Given the description of an element on the screen output the (x, y) to click on. 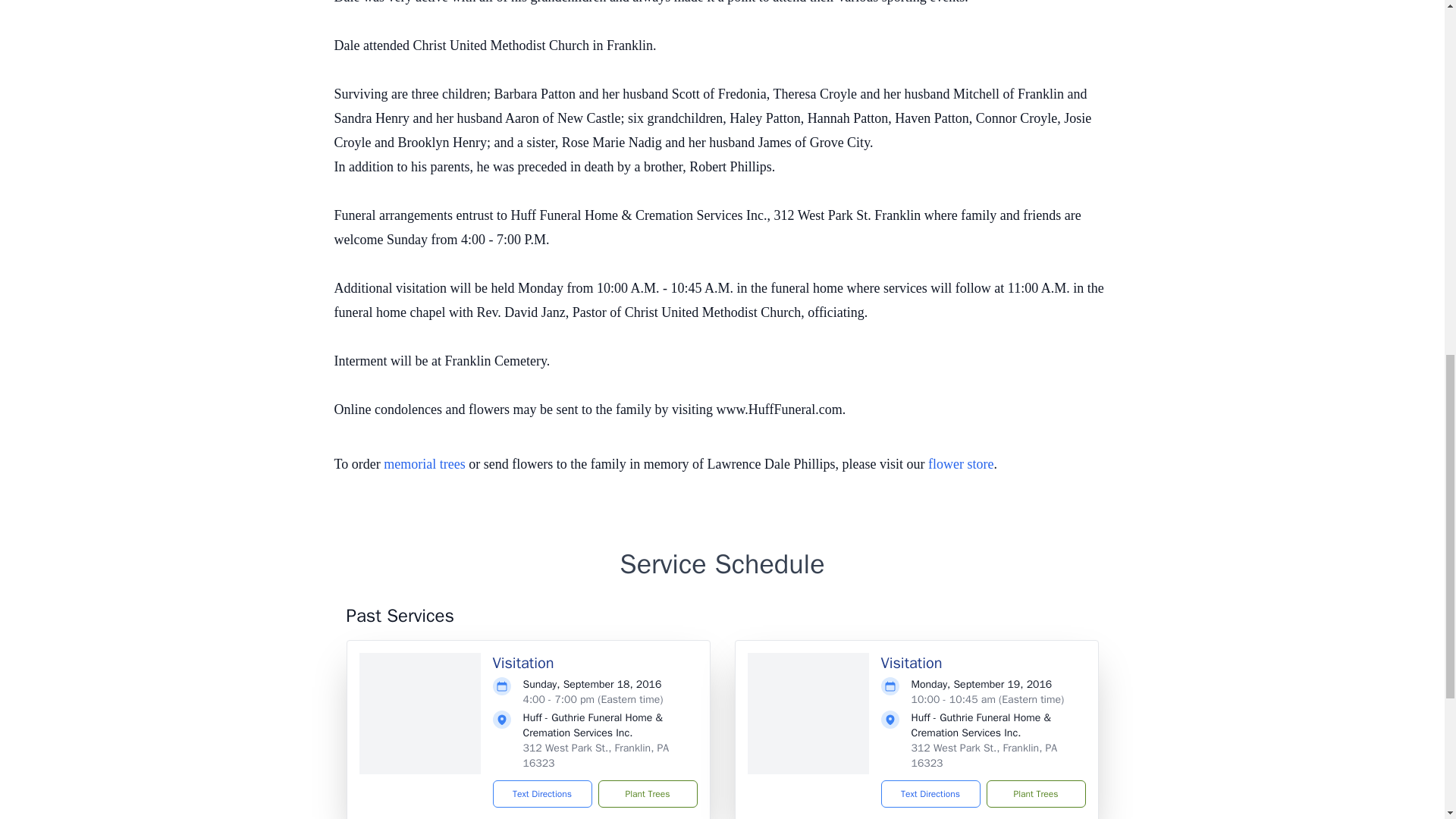
312 West Park St., Franklin, PA 16323 (984, 755)
Text Directions (542, 793)
Text Directions (929, 793)
flower store (960, 463)
memorial trees (424, 463)
312 West Park St., Franklin, PA 16323 (595, 755)
Plant Trees (1034, 793)
Plant Trees (646, 793)
